Given the description of an element on the screen output the (x, y) to click on. 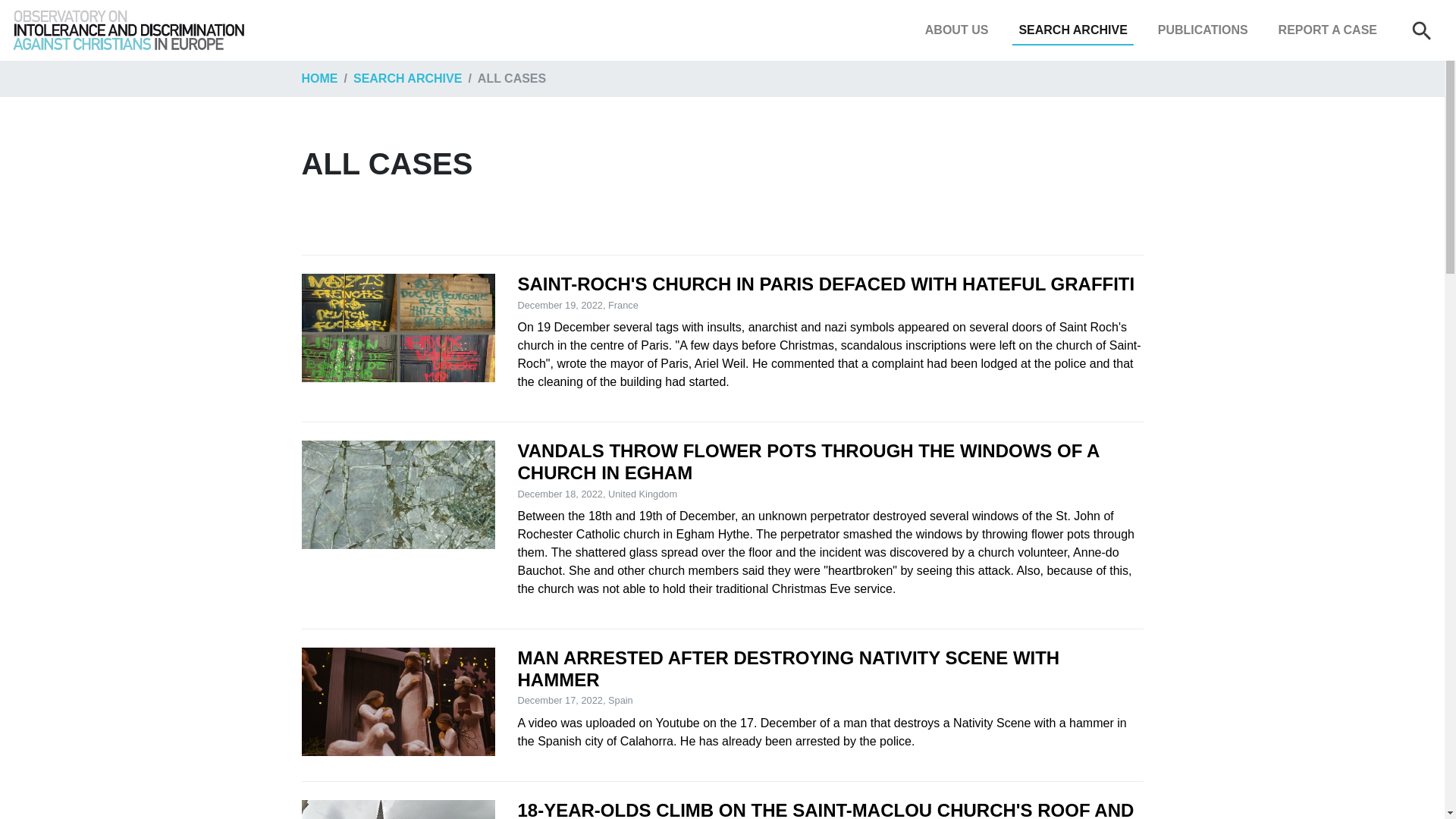
About us (956, 30)
SEARCH ARCHIVE (1071, 30)
PUBLICATIONS (1202, 30)
Report a case (1327, 30)
REPORT A CASE (1327, 30)
ABOUT US (956, 30)
Search archive (1071, 30)
Publications (1202, 30)
